Given the description of an element on the screen output the (x, y) to click on. 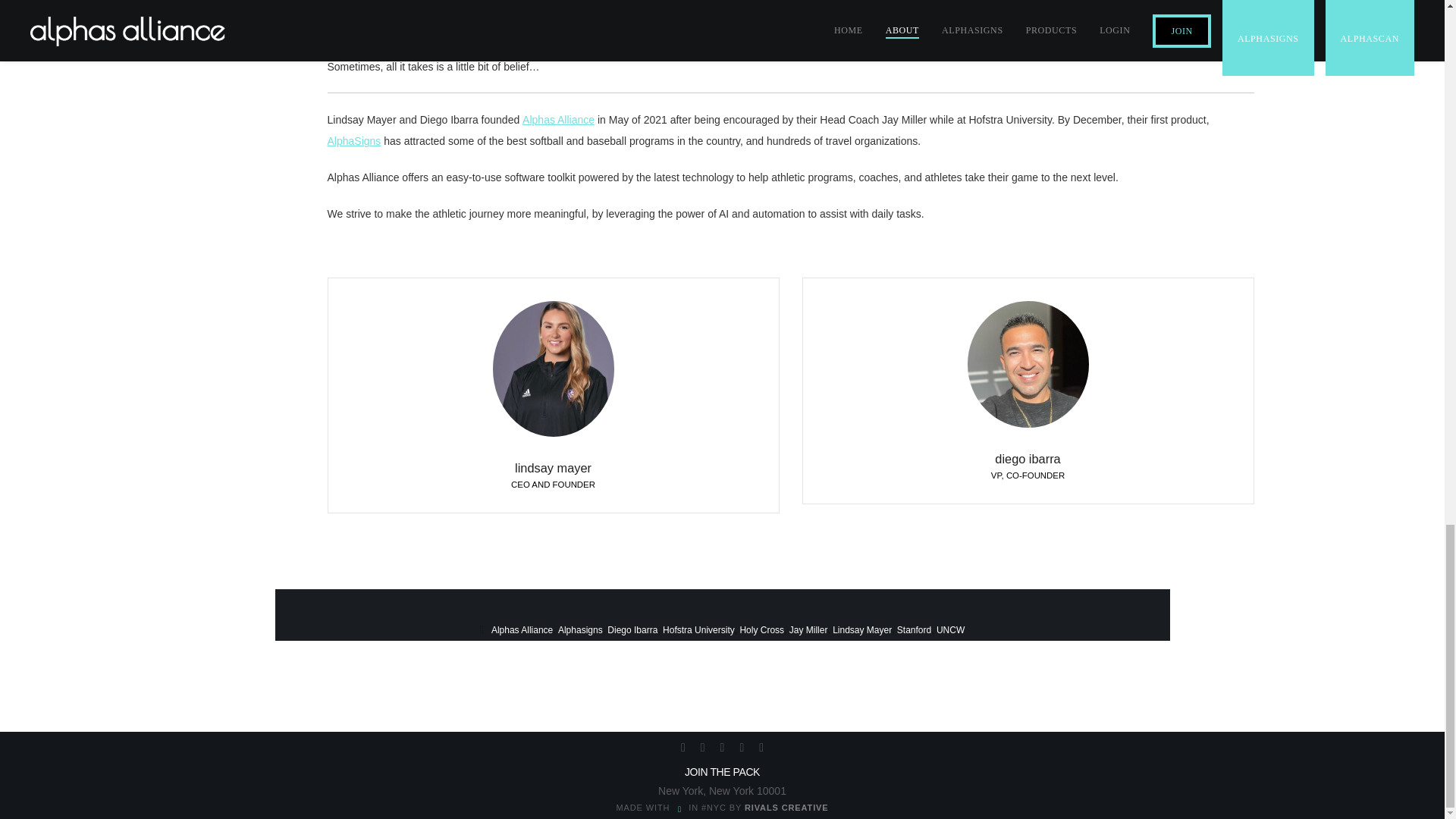
AlphaSigns (529, 30)
AlphaSigns (354, 141)
Alphas Alliance (558, 119)
